Given the description of an element on the screen output the (x, y) to click on. 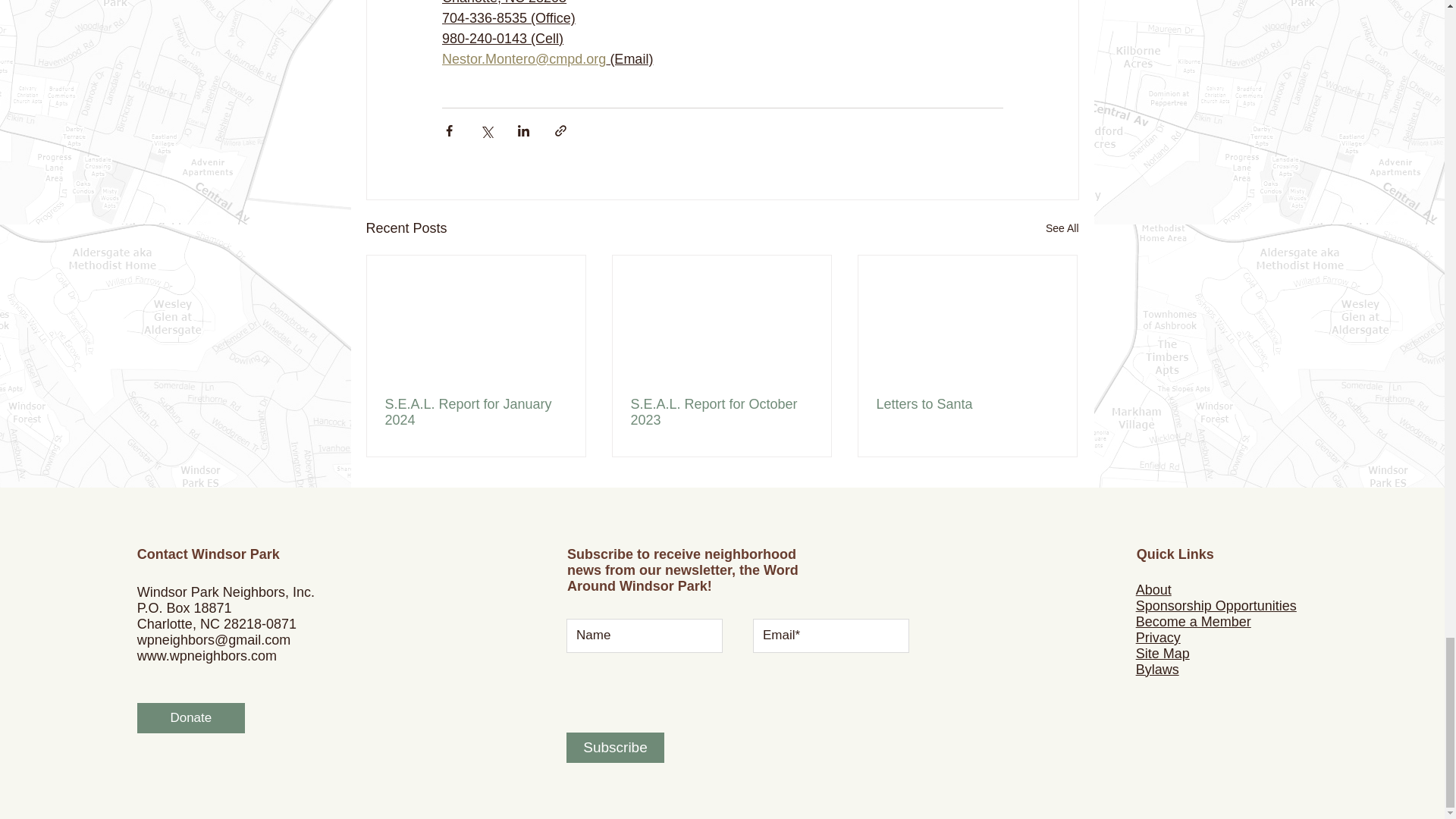
See All (1061, 228)
S.E.A.L. Report for October 2023 (721, 412)
S.E.A.L. Report for January 2024 (476, 412)
Letters to Santa (967, 404)
Donate (190, 717)
